Given the description of an element on the screen output the (x, y) to click on. 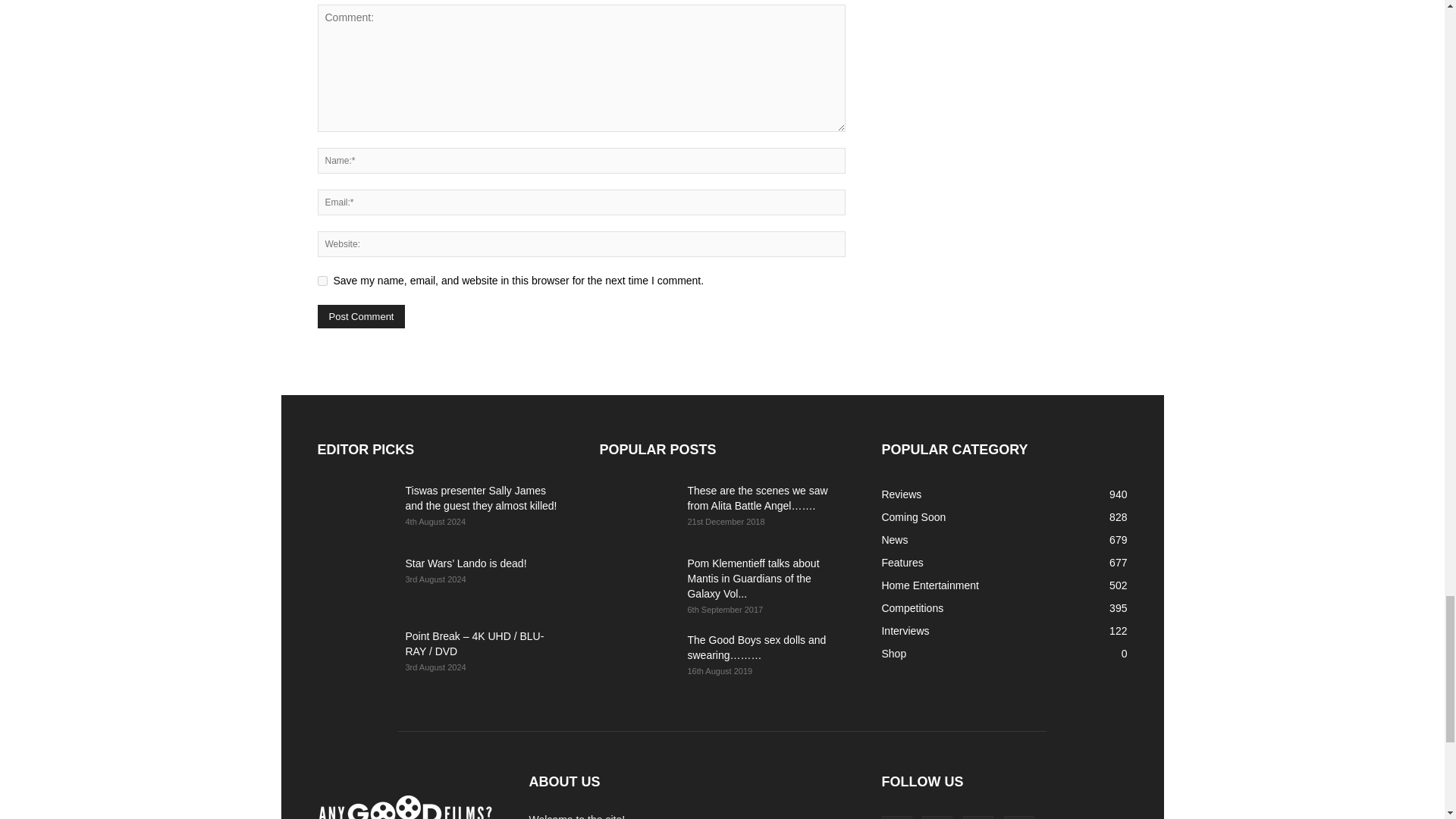
Post Comment (360, 316)
yes (321, 280)
